Given the description of an element on the screen output the (x, y) to click on. 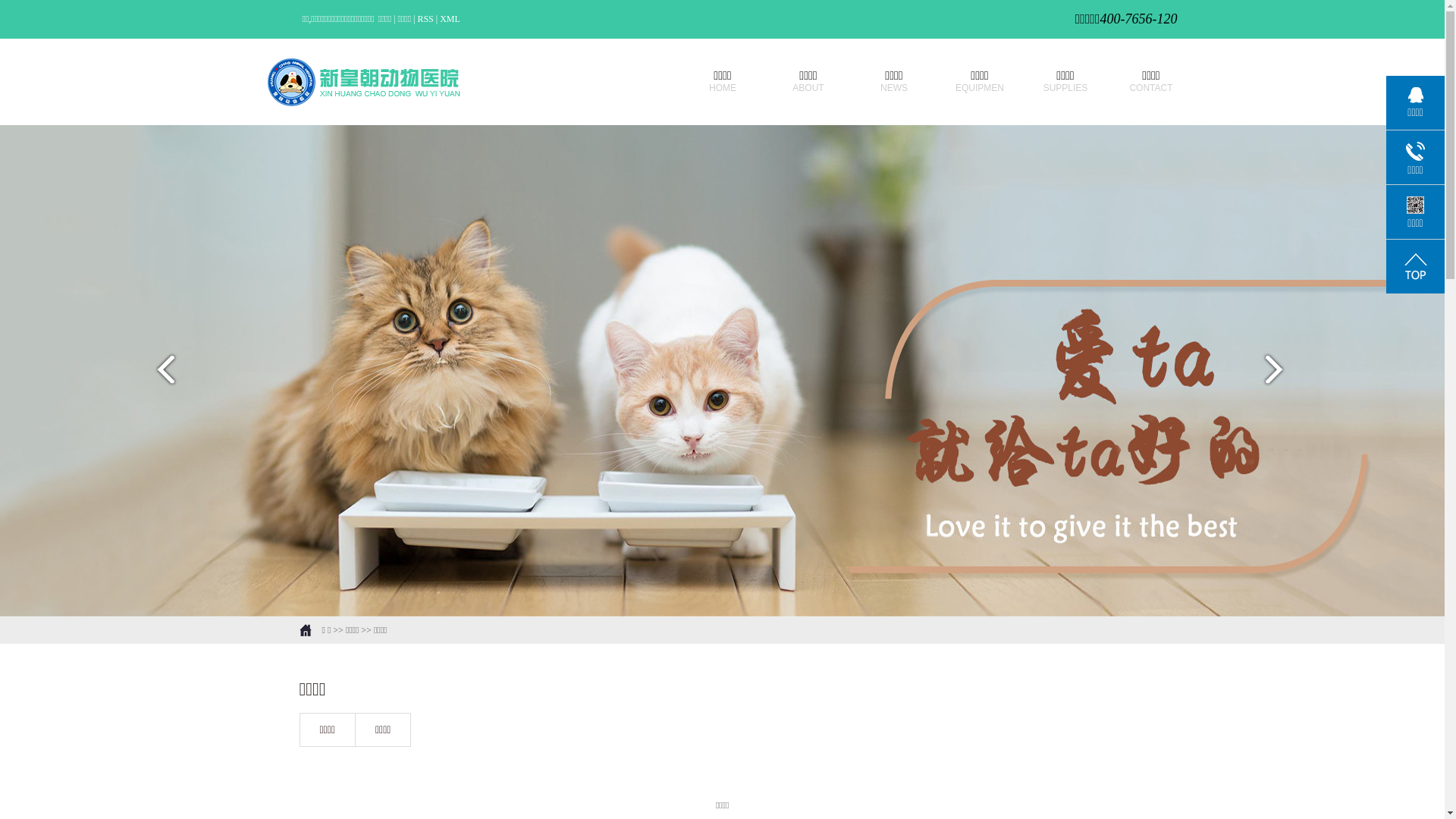
next Element type: text (1283, 374)
RSS Element type: text (425, 18)
prev Element type: text (160, 374)
XML Element type: text (449, 18)
